Given the description of an element on the screen output the (x, y) to click on. 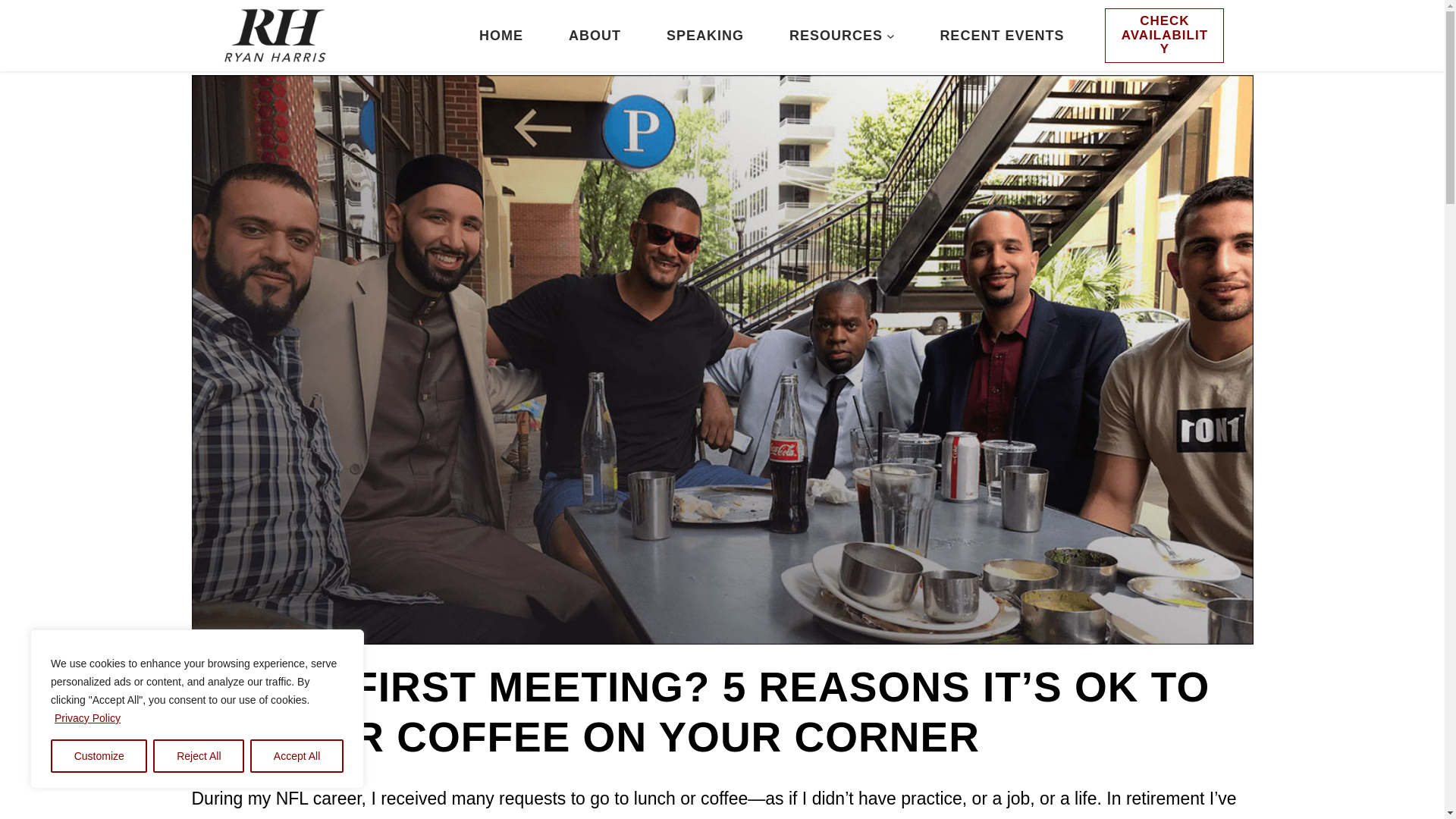
Accept All (296, 756)
RECENT EVENTS (1001, 35)
RESOURCES (835, 35)
Customize (98, 756)
Reject All (198, 756)
Privacy Policy (86, 717)
HOME (500, 35)
ABOUT (595, 35)
SPEAKING (705, 35)
CHECK AVAILABILITY (1164, 35)
